Given the description of an element on the screen output the (x, y) to click on. 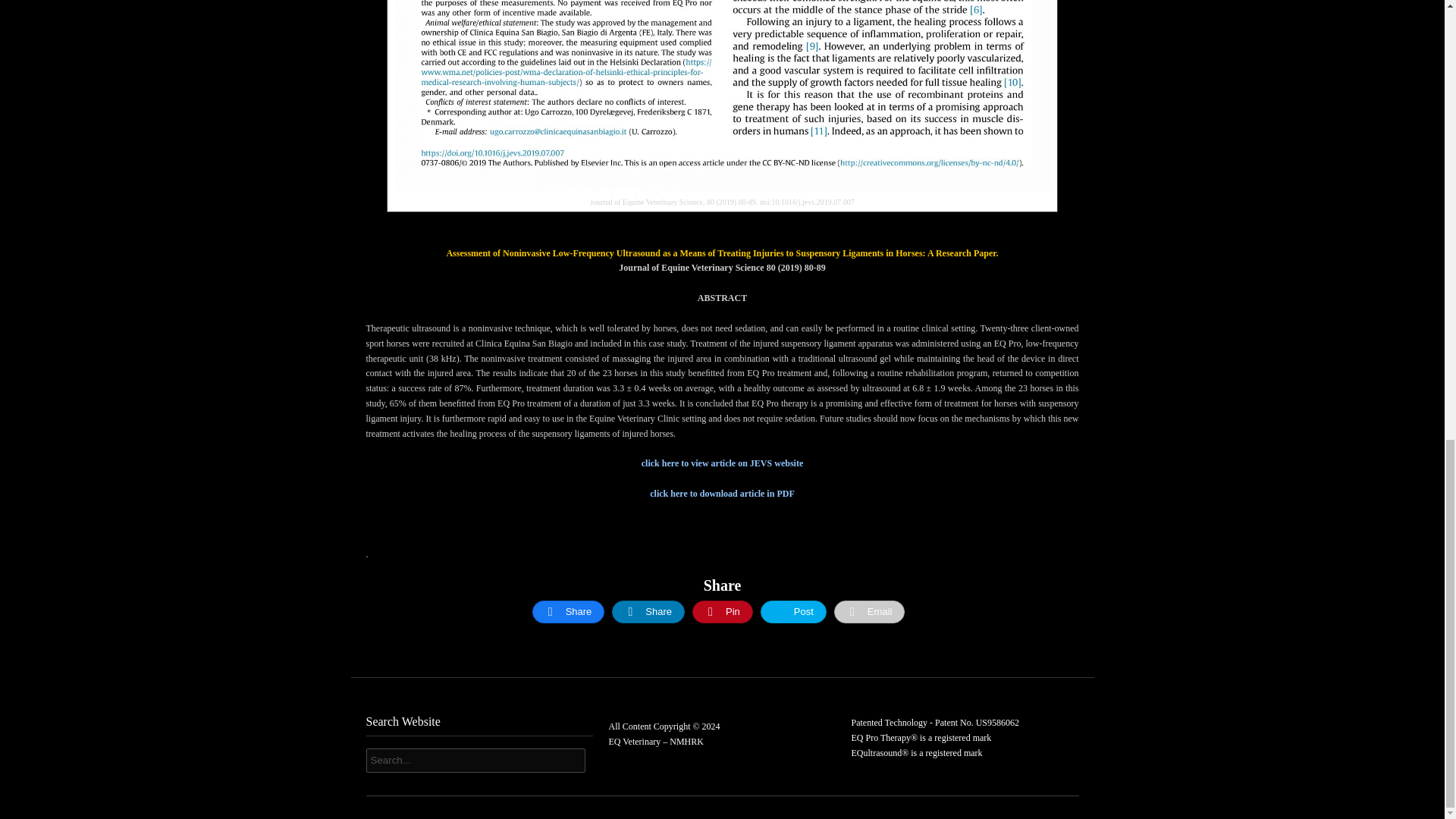
click here to download article in PDF (721, 493)
click here to view article on JEVS website (722, 462)
Search... (475, 760)
